Given the description of an element on the screen output the (x, y) to click on. 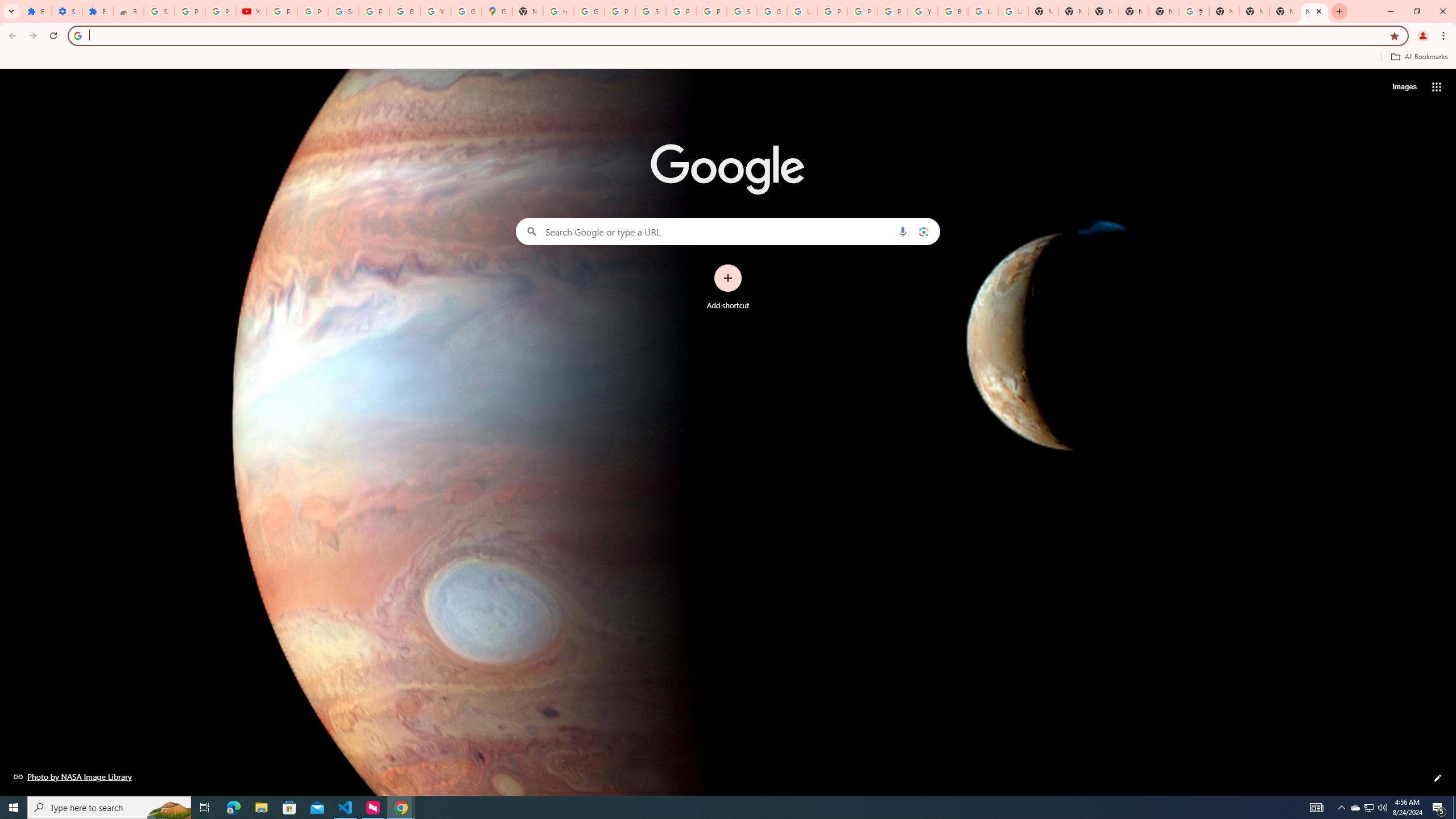
Add shortcut (727, 287)
YouTube (434, 11)
YouTube (922, 11)
Sign in - Google Accounts (158, 11)
Privacy Help Center - Policies Help (832, 11)
Privacy Help Center - Policies Help (862, 11)
https://scholar.google.com/ (558, 11)
YouTube (251, 11)
